Given the description of an element on the screen output the (x, y) to click on. 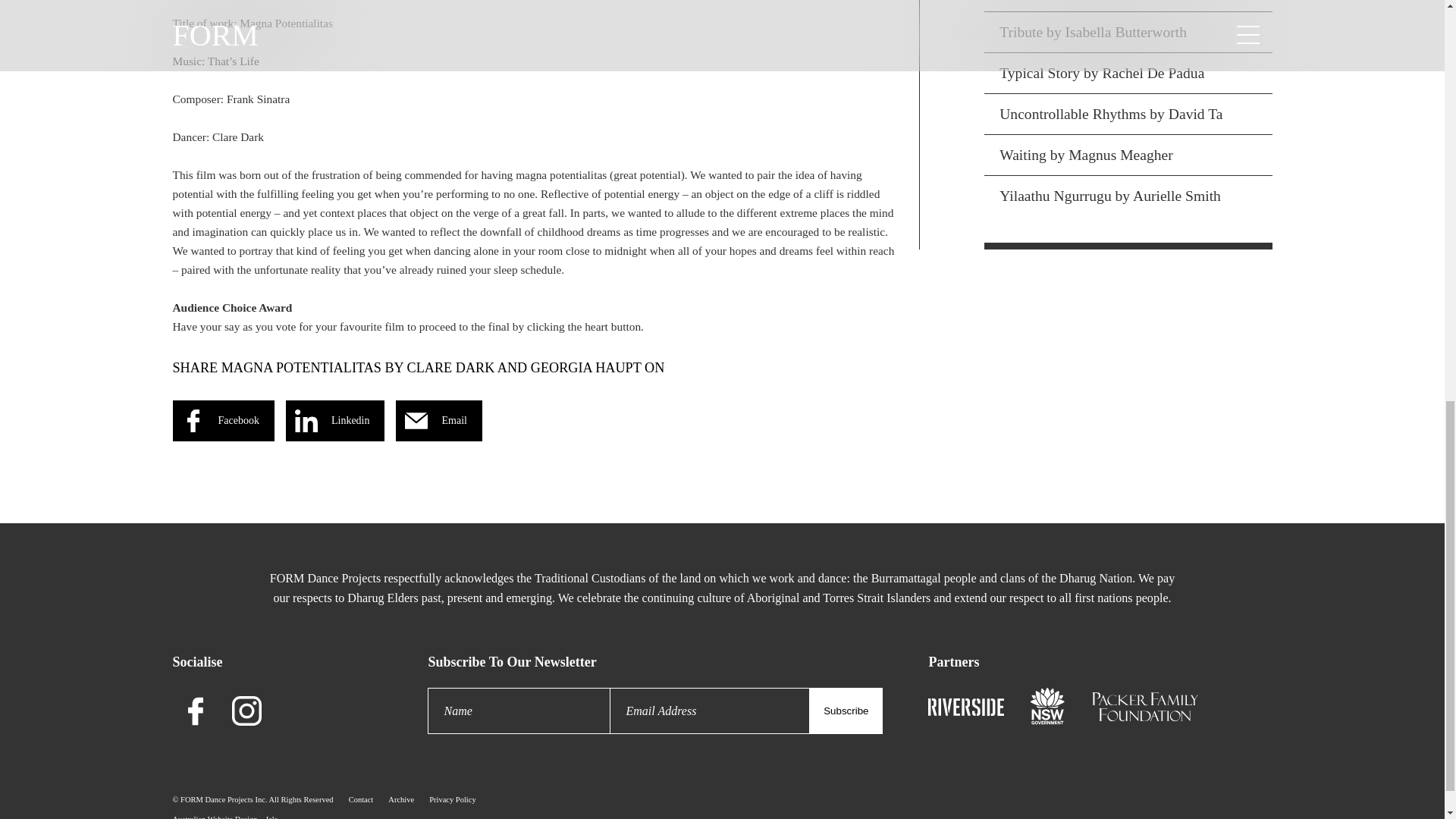
Share by Facebook (224, 420)
Uncontrollable Rhythms by David Ta (1127, 113)
Facebook (224, 420)
Contact (361, 799)
Linkedin (335, 420)
Subscribe (845, 710)
Yilaathu Ngurrugu by Aurielle Smith (1127, 195)
The Lull by Mikah BatachEl (1127, 5)
Facebook (196, 710)
Share by Linkedin (335, 420)
